Given the description of an element on the screen output the (x, y) to click on. 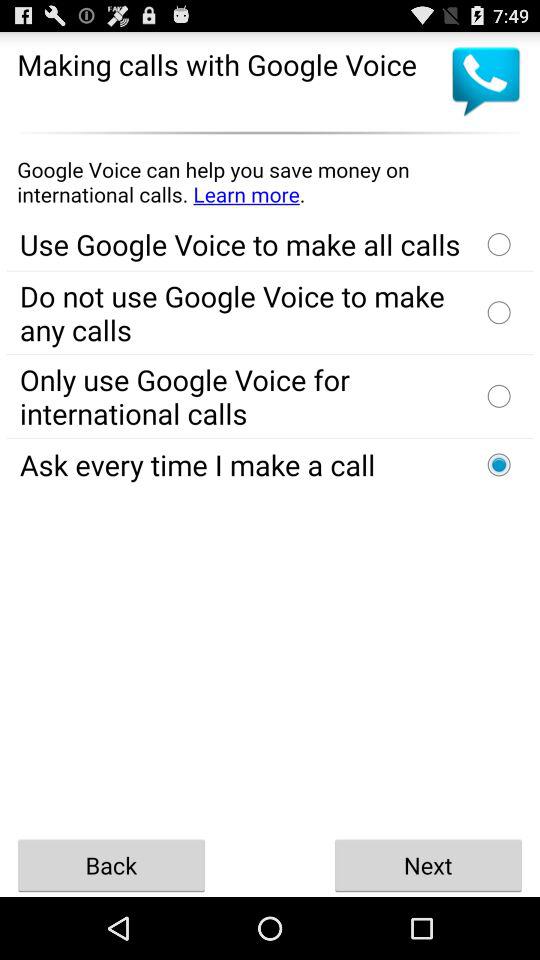
option (499, 396)
